Given the description of an element on the screen output the (x, y) to click on. 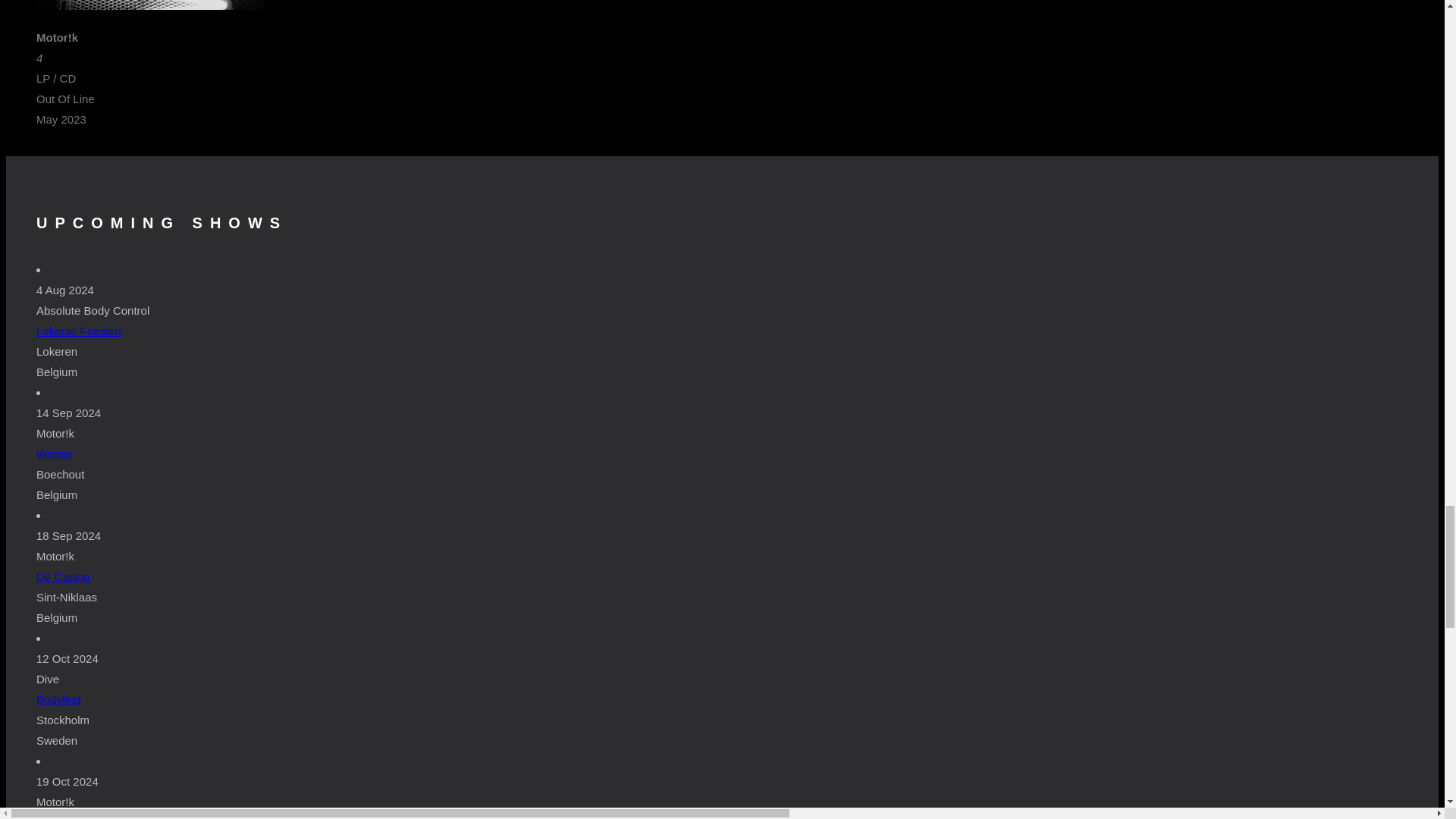
De Casino (62, 576)
Djingel Djangel (74, 817)
Lokerse Feesten (78, 330)
Bodyfest (58, 698)
Wattan (53, 453)
